Given the description of an element on the screen output the (x, y) to click on. 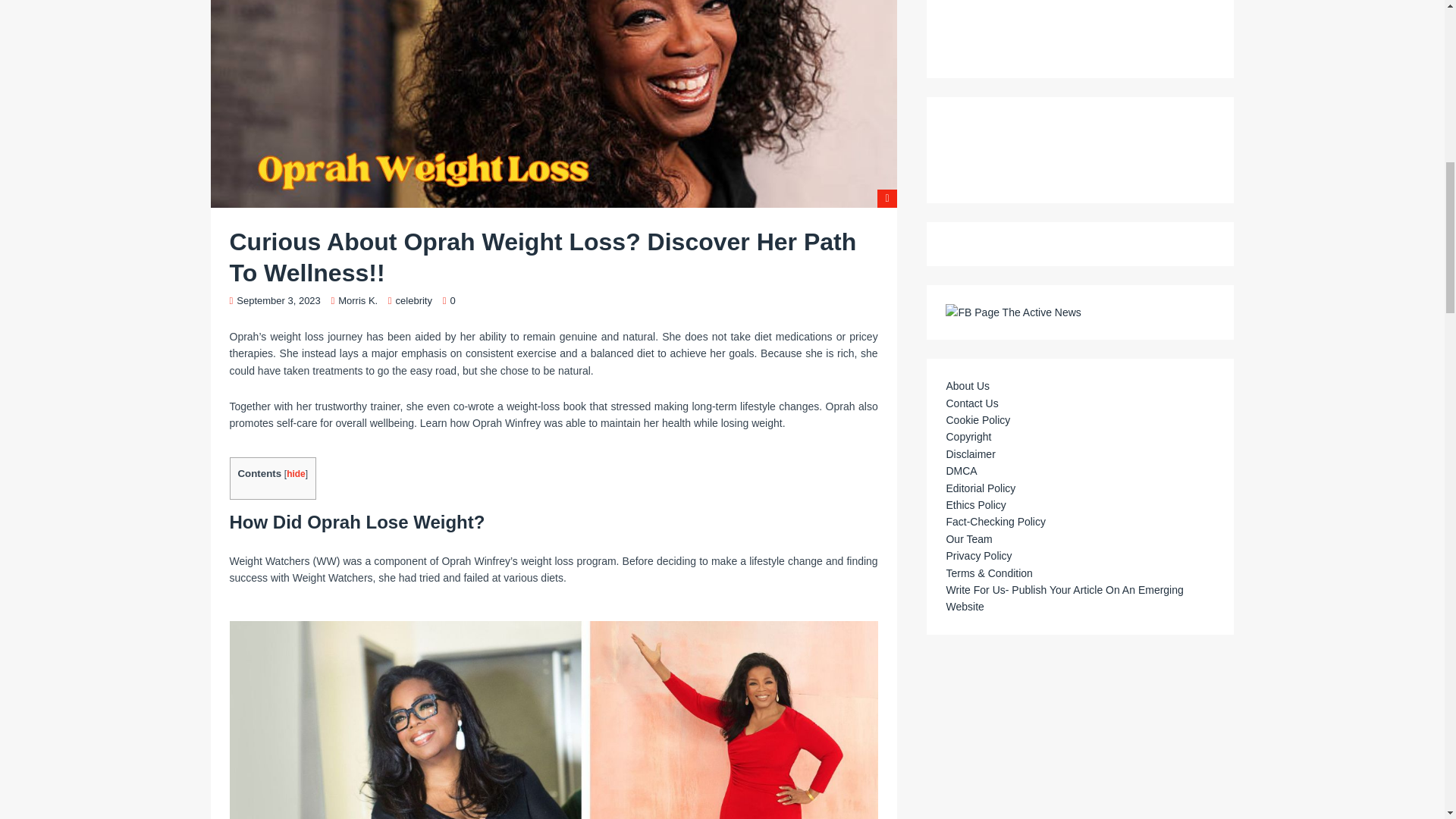
September 3, 2023 (277, 300)
hide (295, 473)
Morris K. (357, 300)
celebrity (414, 300)
